Given the description of an element on the screen output the (x, y) to click on. 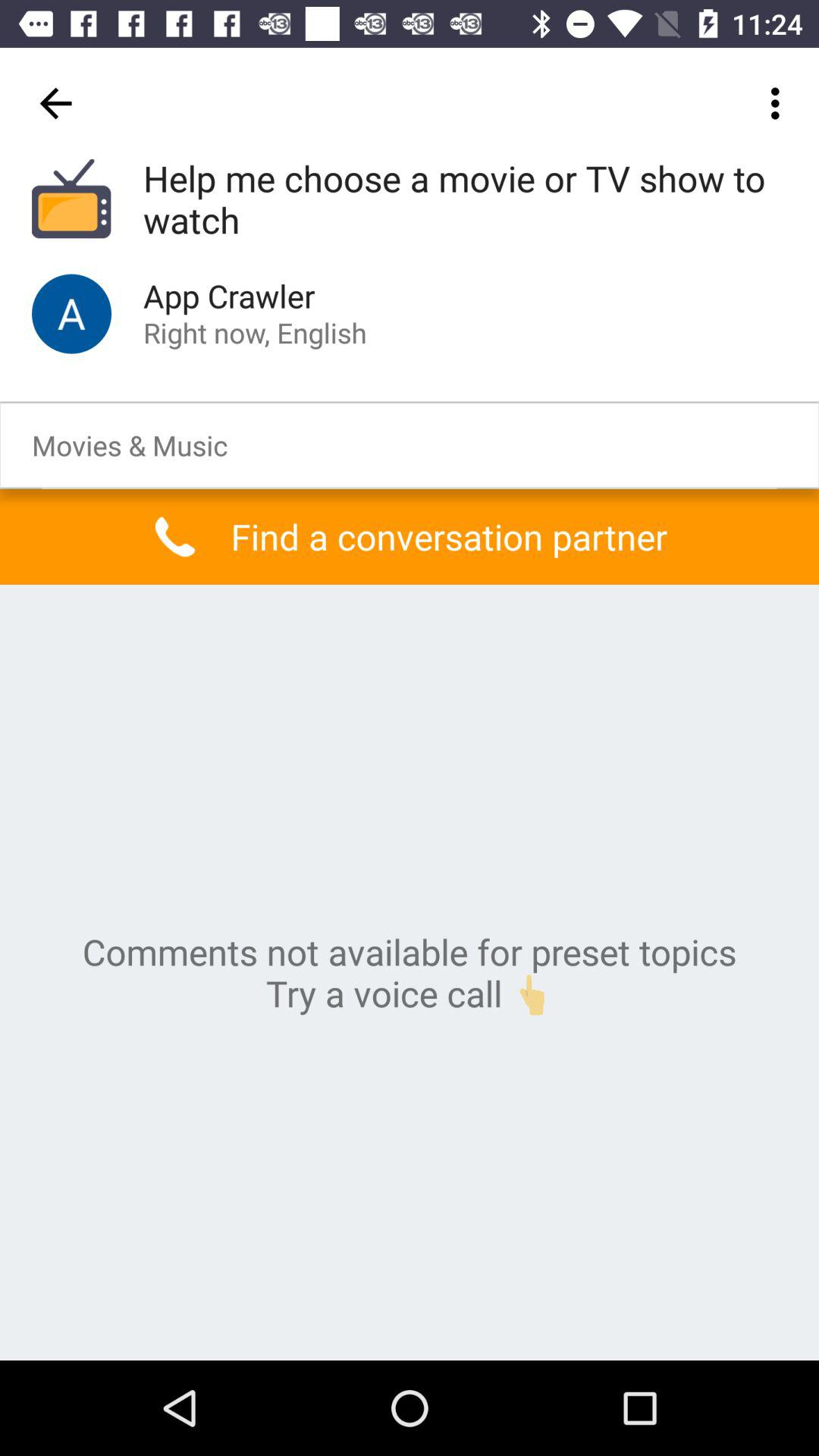
click the item to the left of the help me choose item (55, 103)
